Given the description of an element on the screen output the (x, y) to click on. 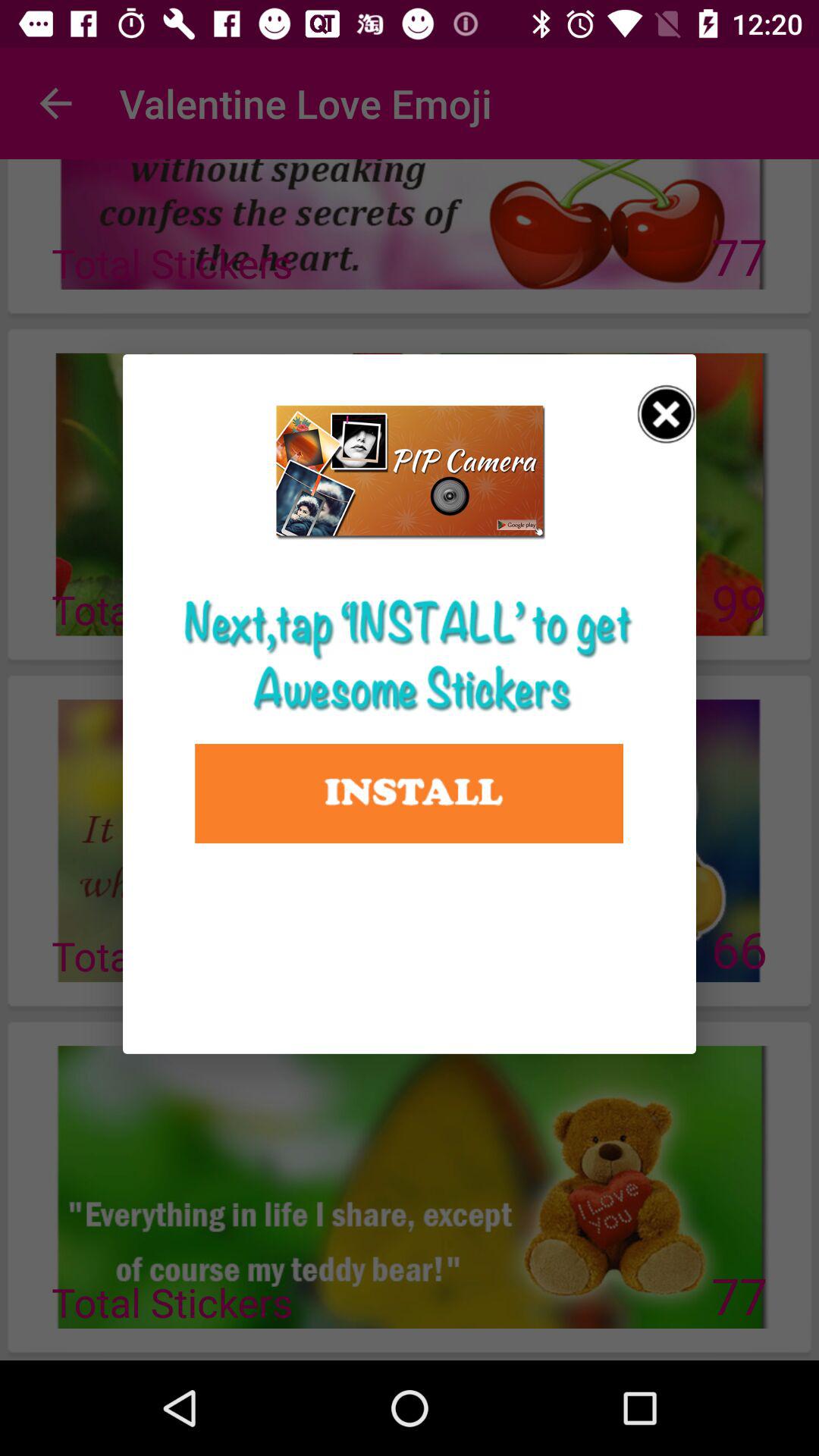
toggle close (666, 414)
